Given the description of an element on the screen output the (x, y) to click on. 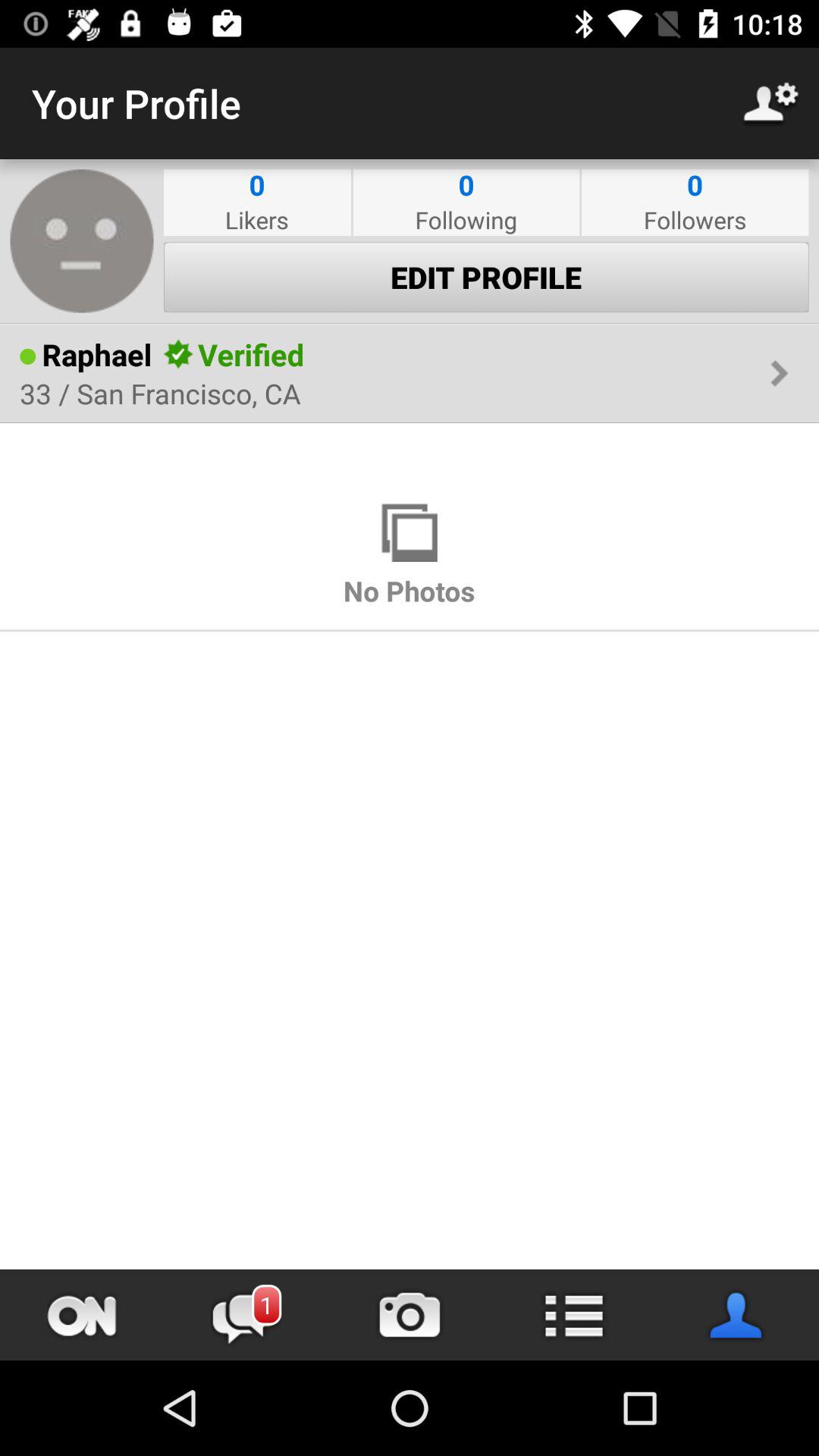
choose the icon next to edit profile icon (81, 240)
